Given the description of an element on the screen output the (x, y) to click on. 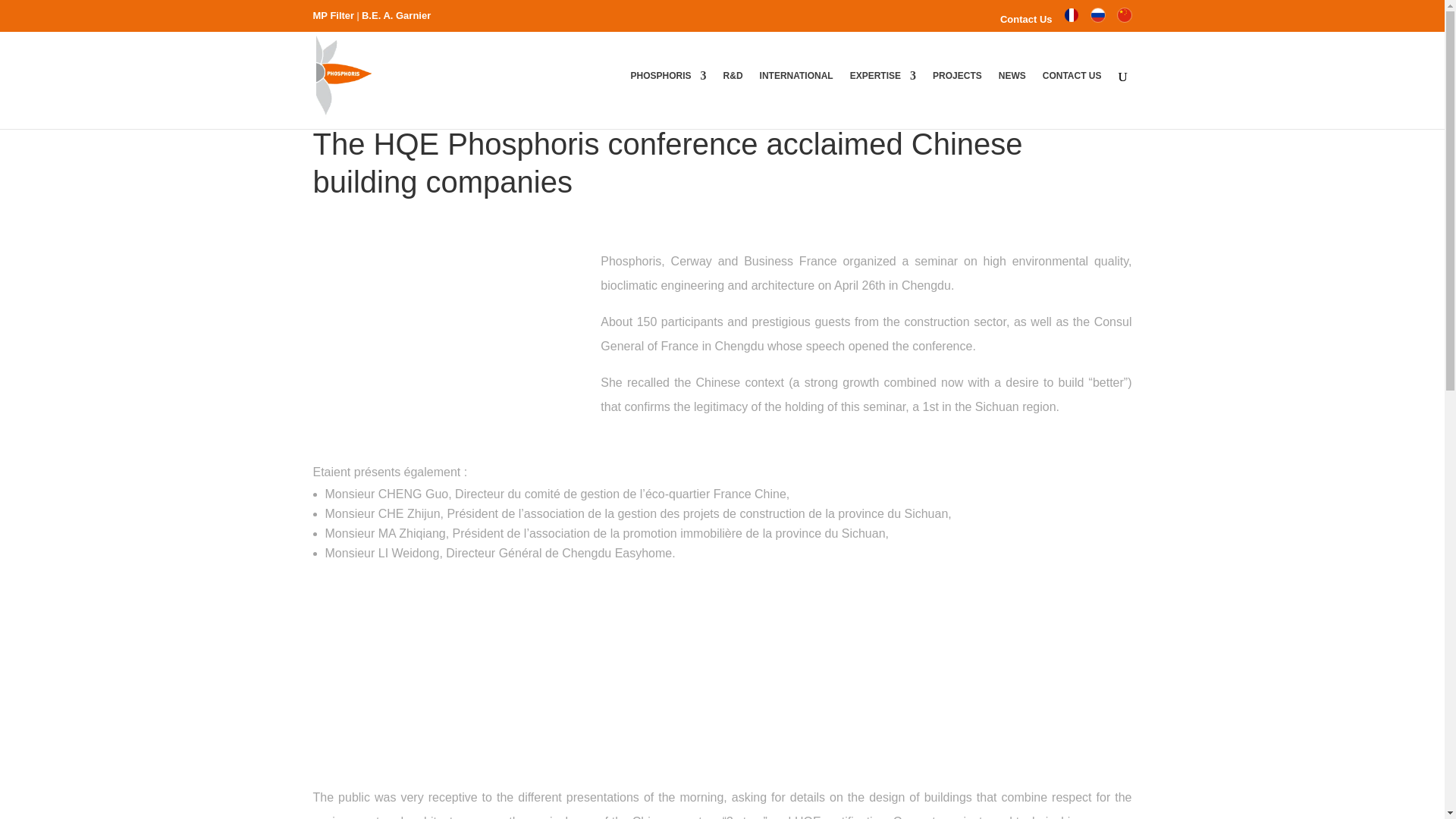
B.E. A. Garnier (395, 15)
EXPERTISE (882, 99)
MP FILTER (333, 15)
INTERNATIONAL (796, 99)
CONTACT US (1072, 99)
PHOSPHORIS (668, 99)
Contact Us (1026, 22)
MP Filter (333, 15)
B.E. A. Garnier (395, 15)
